Given the description of an element on the screen output the (x, y) to click on. 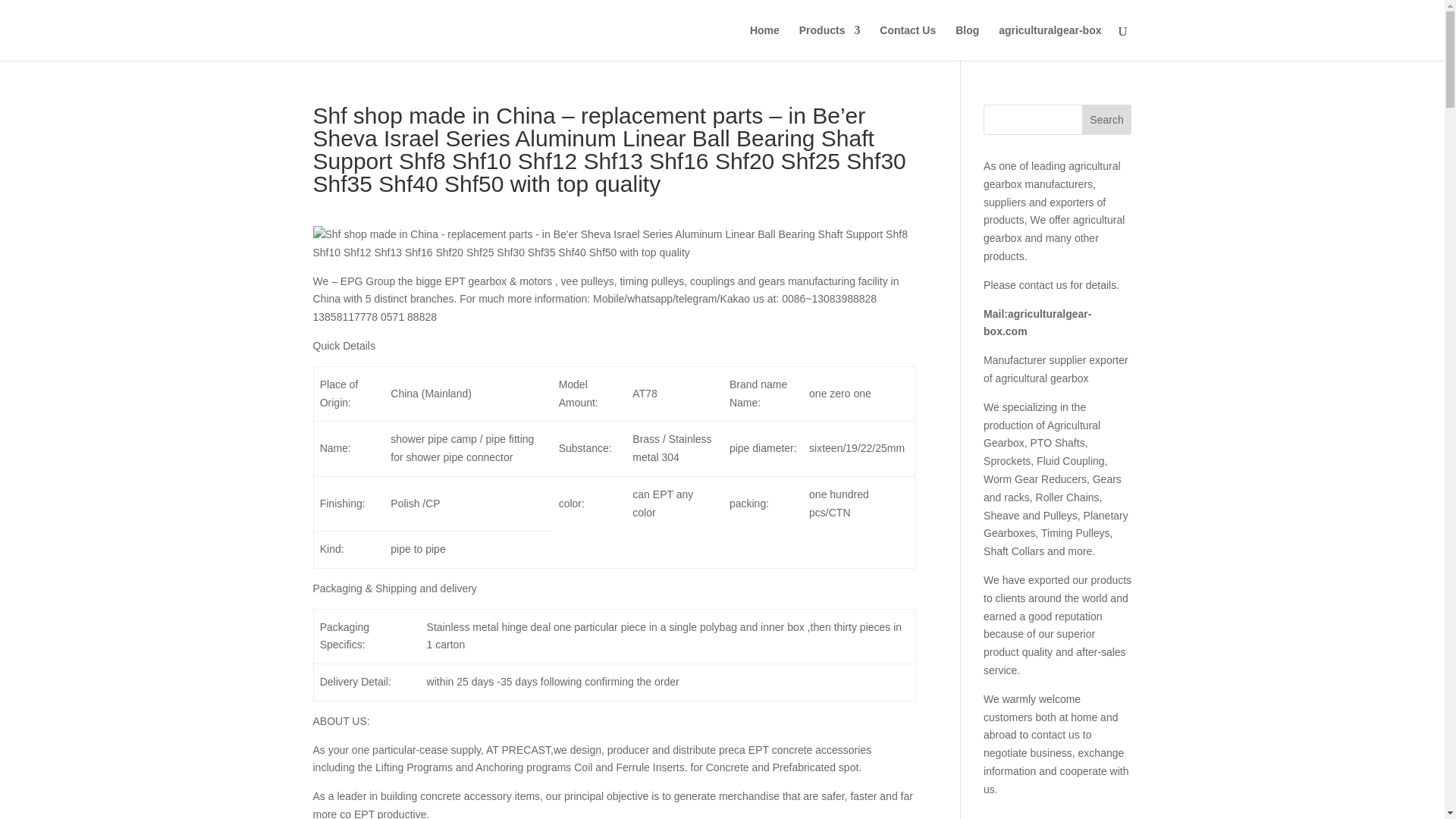
Search (1106, 119)
agriculturalgear-box (1049, 42)
Products (829, 42)
agriculturalgear-box.com (1037, 322)
Contact Us (907, 42)
Search (1106, 119)
